Given the description of an element on the screen output the (x, y) to click on. 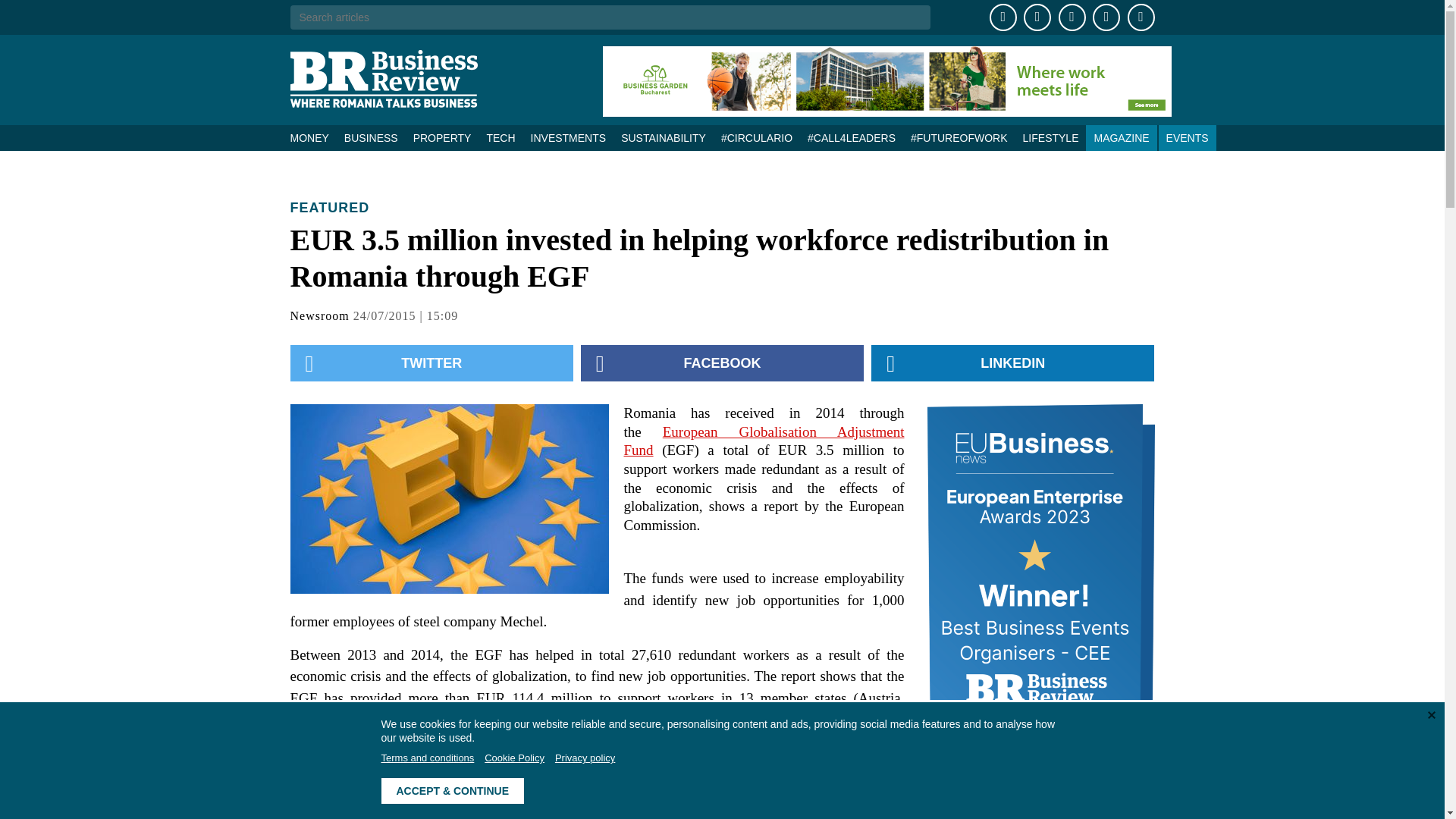
Newsroom (319, 315)
EVENTS (1186, 137)
LIFESTYLE (1050, 137)
European Globalisation Adjustment Fund (763, 441)
BUSINESS (371, 137)
PROPERTY (442, 137)
SUSTAINABILITY (662, 137)
INVESTMENTS (568, 137)
FEATURED (329, 207)
LINKEDIN (1012, 362)
FACEBOOK (721, 362)
TECH (500, 137)
MAGAZINE (1121, 137)
TWITTER (430, 362)
MONEY (312, 137)
